Given the description of an element on the screen output the (x, y) to click on. 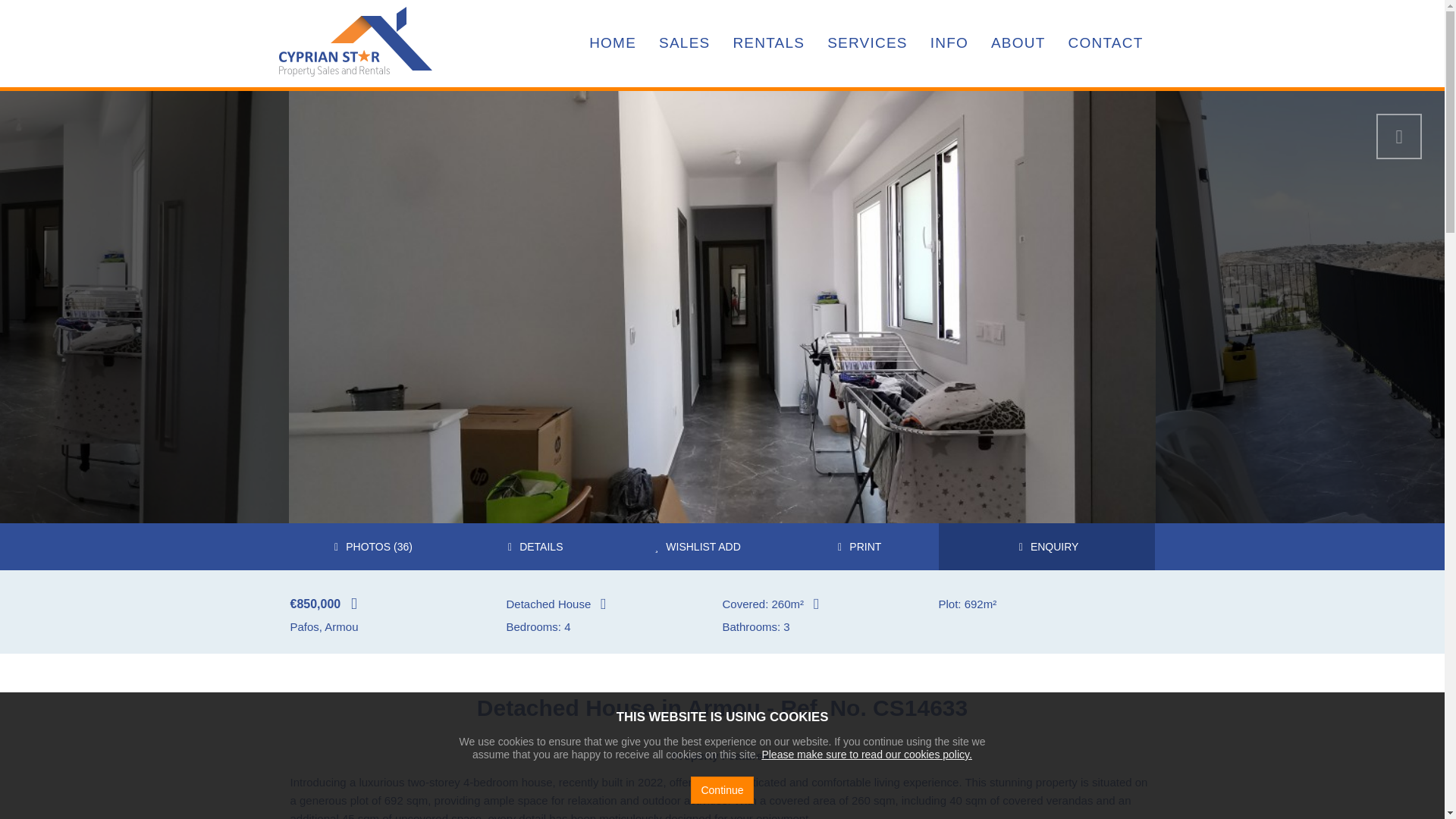
SERVICES (866, 43)
SALES (683, 43)
CONTACT (1105, 43)
RENTALS (767, 43)
HOME (612, 43)
DETAILS (532, 546)
ABOUT (1018, 43)
INFO (948, 43)
